Given the description of an element on the screen output the (x, y) to click on. 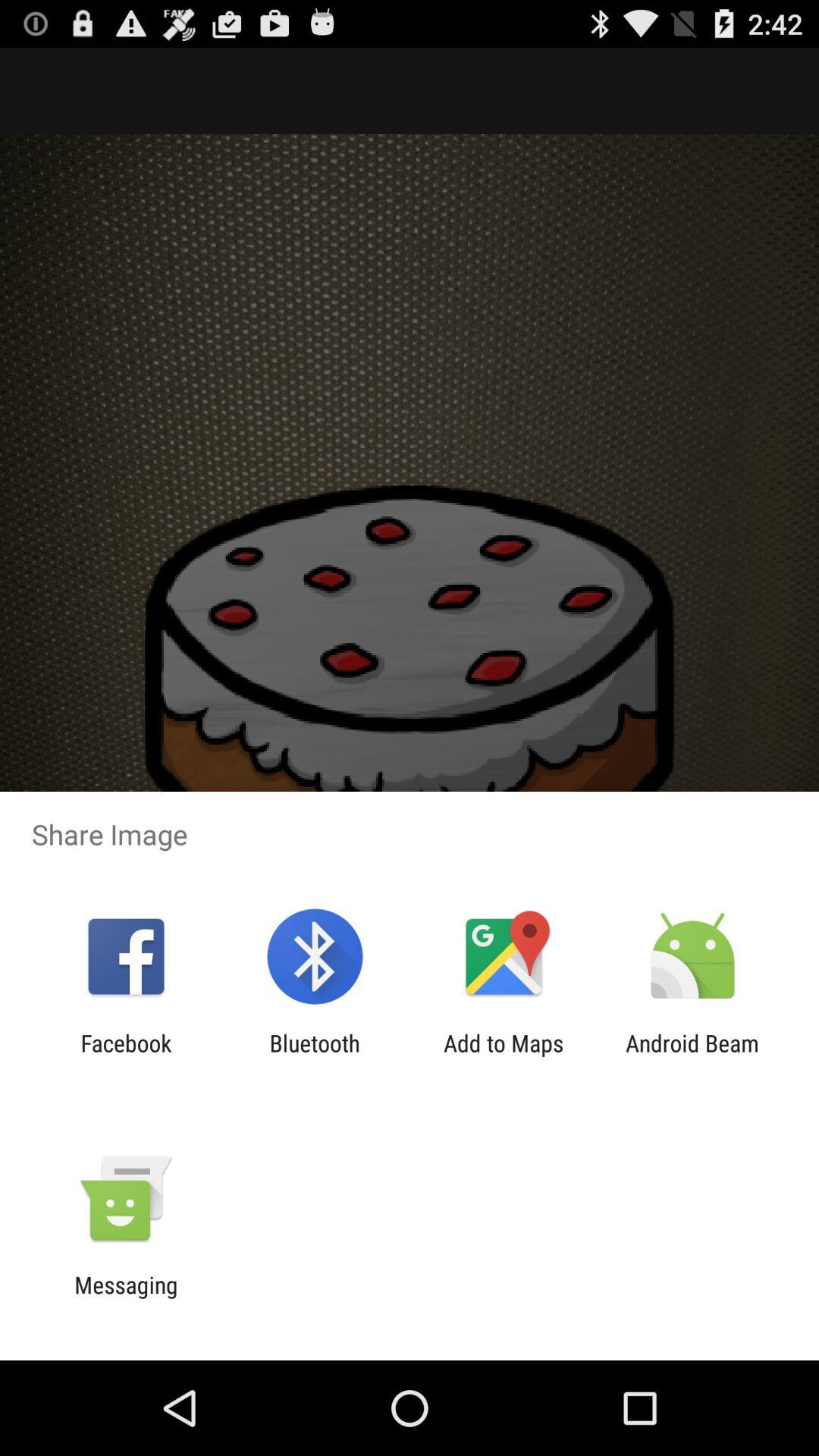
choose the icon to the left of the android beam icon (503, 1056)
